Given the description of an element on the screen output the (x, y) to click on. 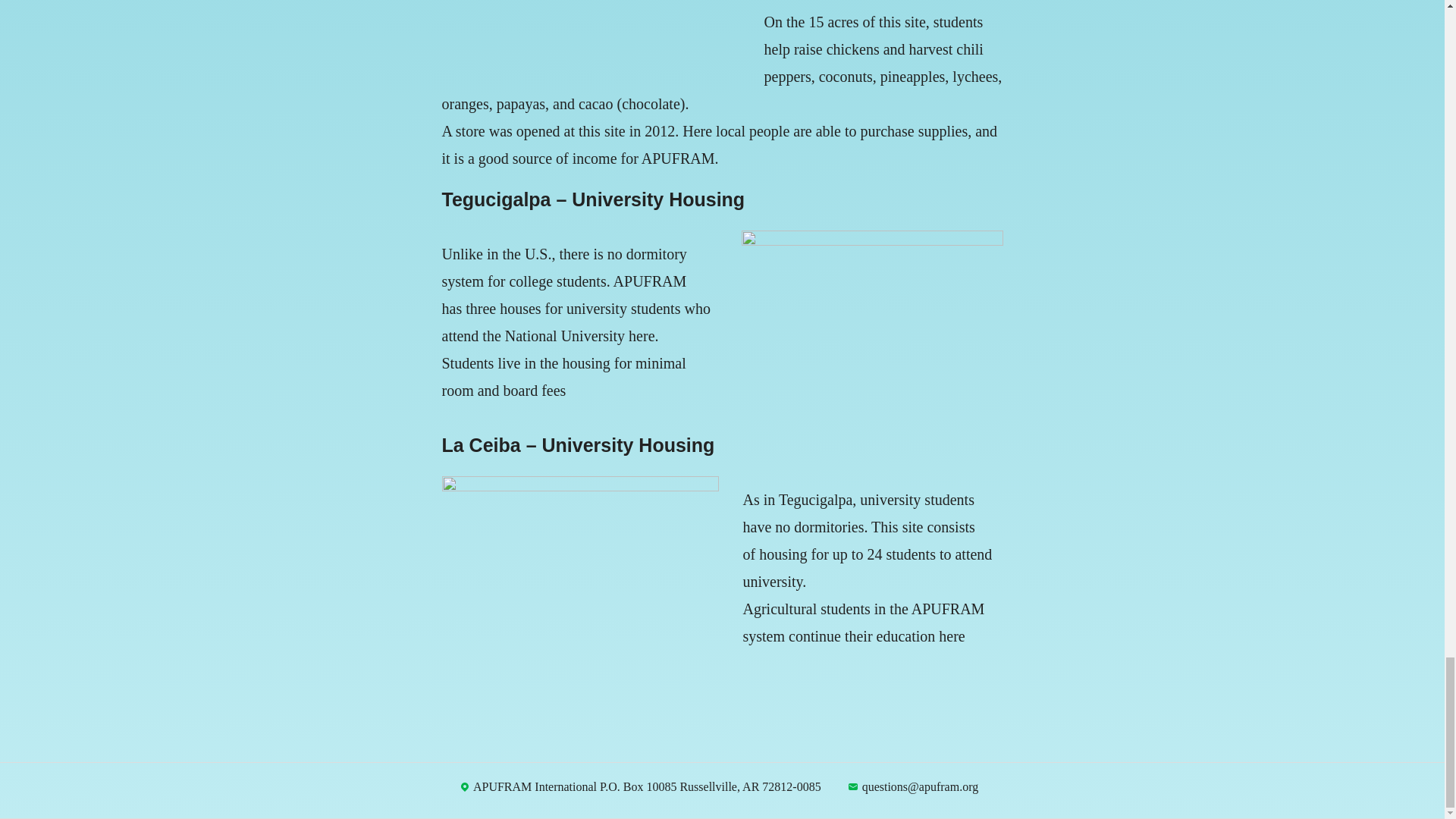
E-mail (853, 787)
Location (464, 787)
